Given the description of an element on the screen output the (x, y) to click on. 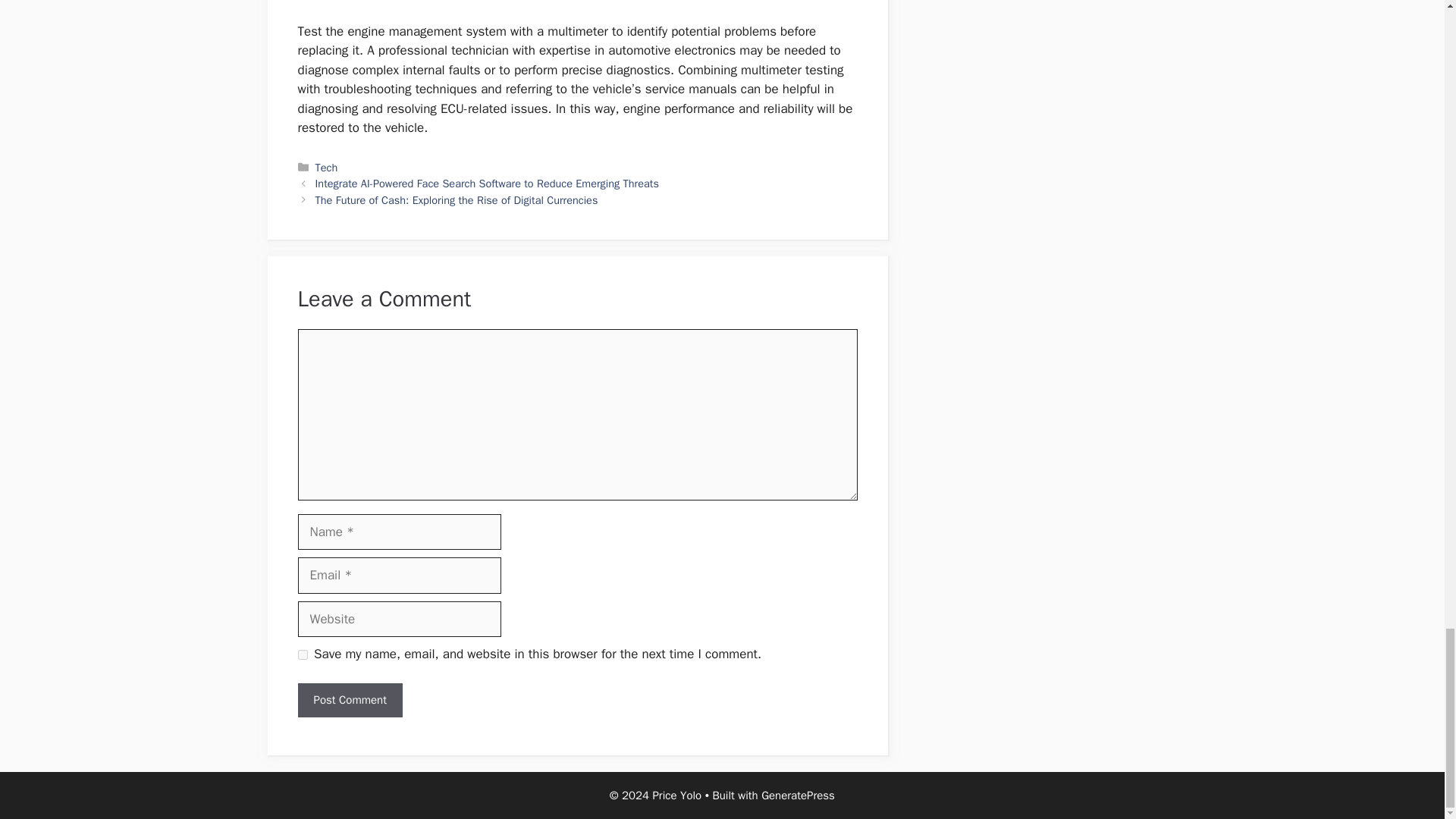
GeneratePress (797, 795)
Tech (326, 167)
Post Comment (349, 700)
The Future of Cash: Exploring the Rise of Digital Currencies (456, 200)
Post Comment (349, 700)
yes (302, 655)
